Given the description of an element on the screen output the (x, y) to click on. 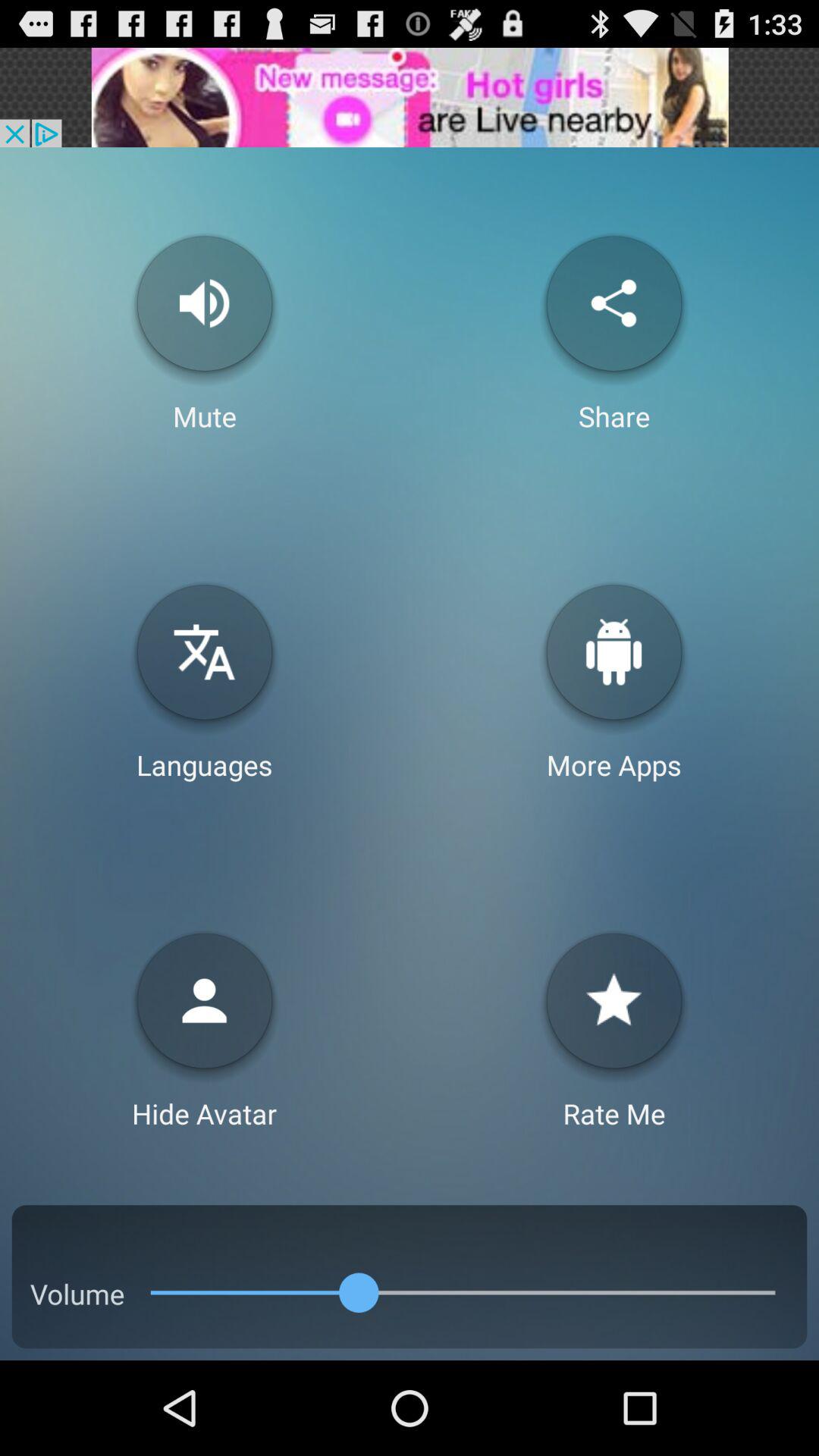
advertisement box (409, 97)
